Given the description of an element on the screen output the (x, y) to click on. 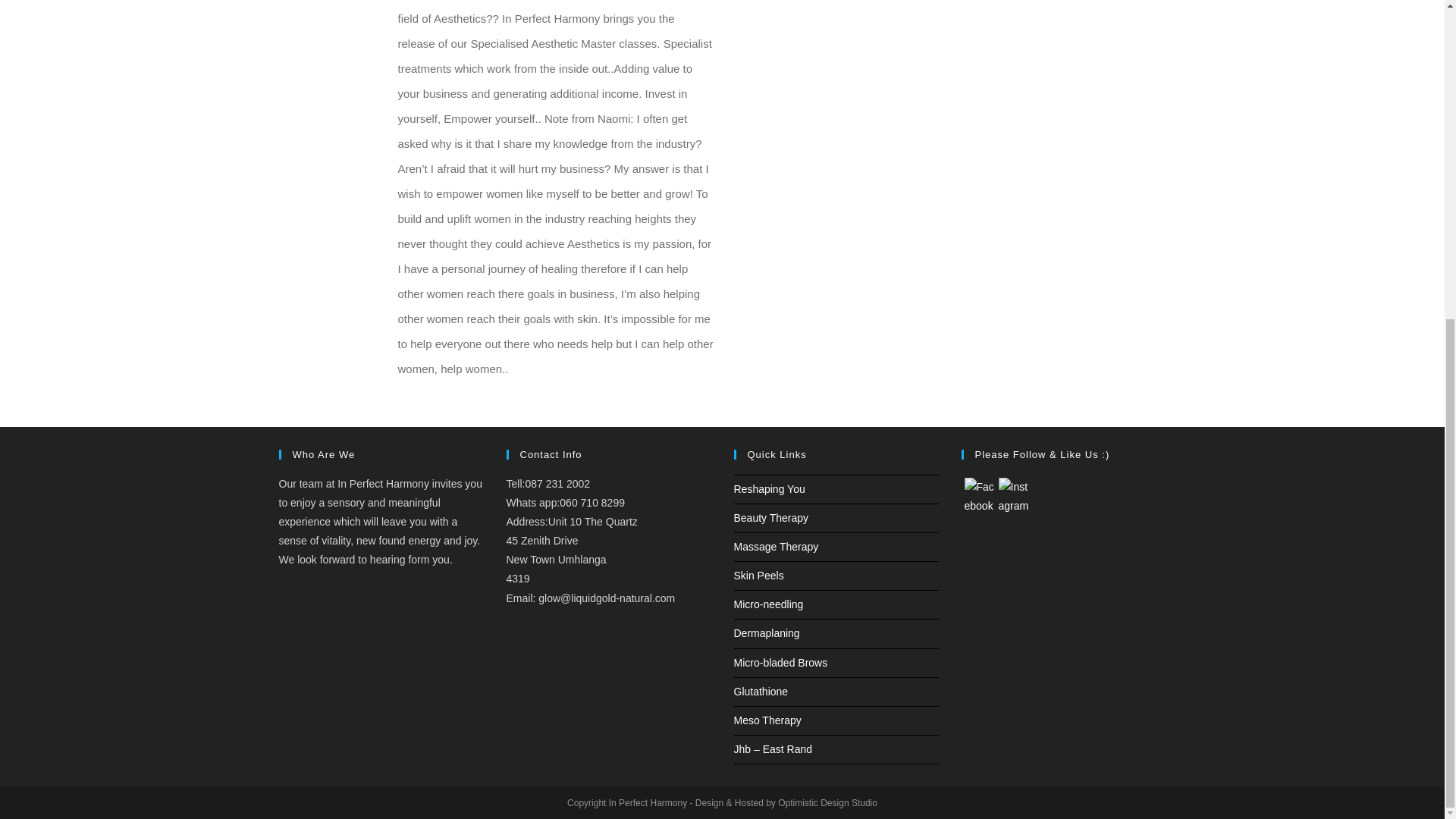
Skin Peels (758, 575)
Dermaplaning (766, 633)
Reshaping You (769, 488)
Beauty Therapy (771, 517)
Micro-bladed Brows (780, 662)
Micro-needling (768, 604)
Massage Therapy (775, 546)
Glutathione (761, 691)
